Given the description of an element on the screen output the (x, y) to click on. 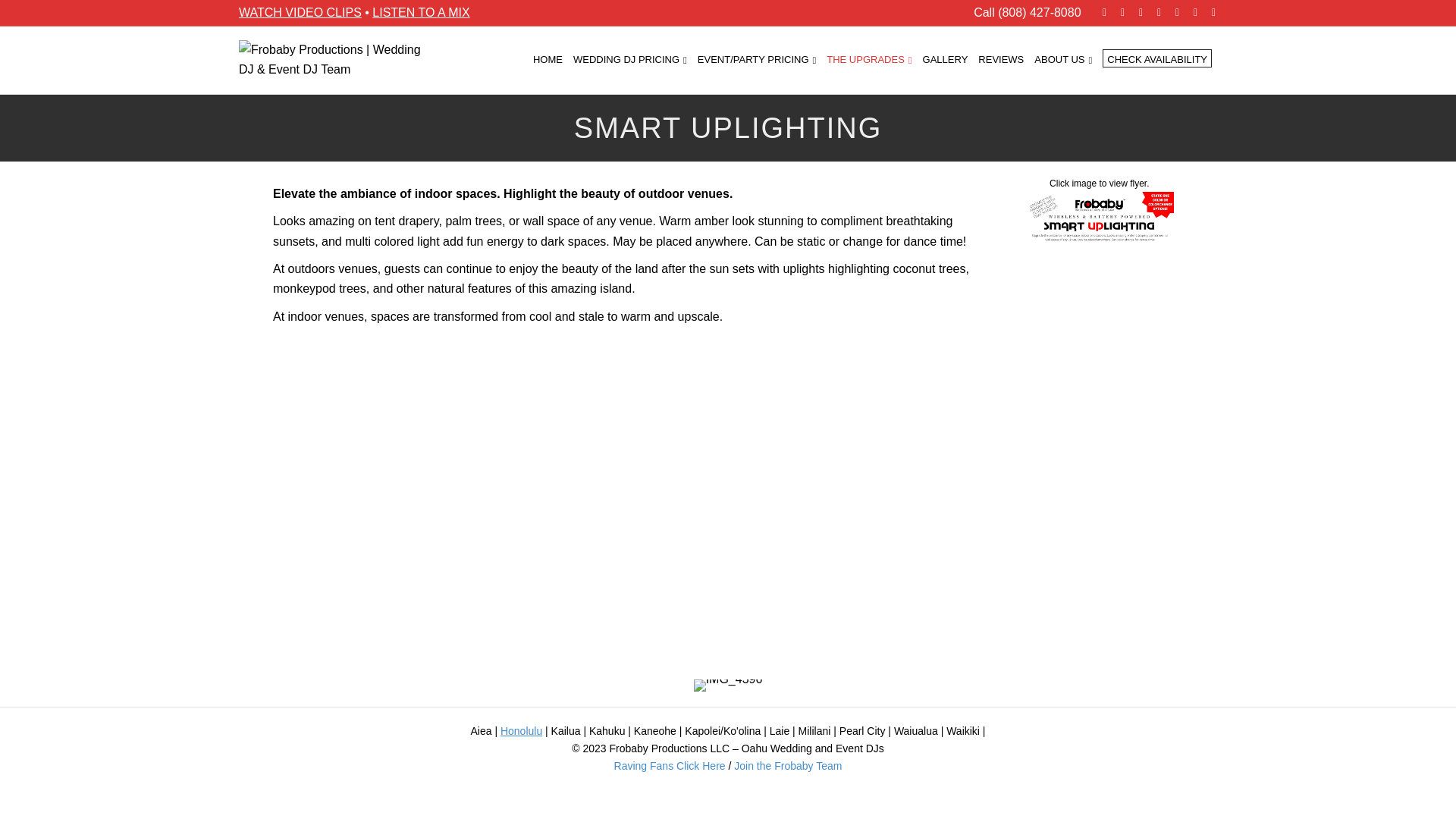
Tiktok (1205, 11)
Yelp (1115, 11)
WATCH VIDEO CLIPS (299, 11)
HOME (547, 59)
Page 23 (633, 255)
GALLERY (945, 59)
Pinterest (1133, 11)
Email (1187, 11)
Instagram (1169, 11)
LISTEN TO A MIX (420, 11)
